Given the description of an element on the screen output the (x, y) to click on. 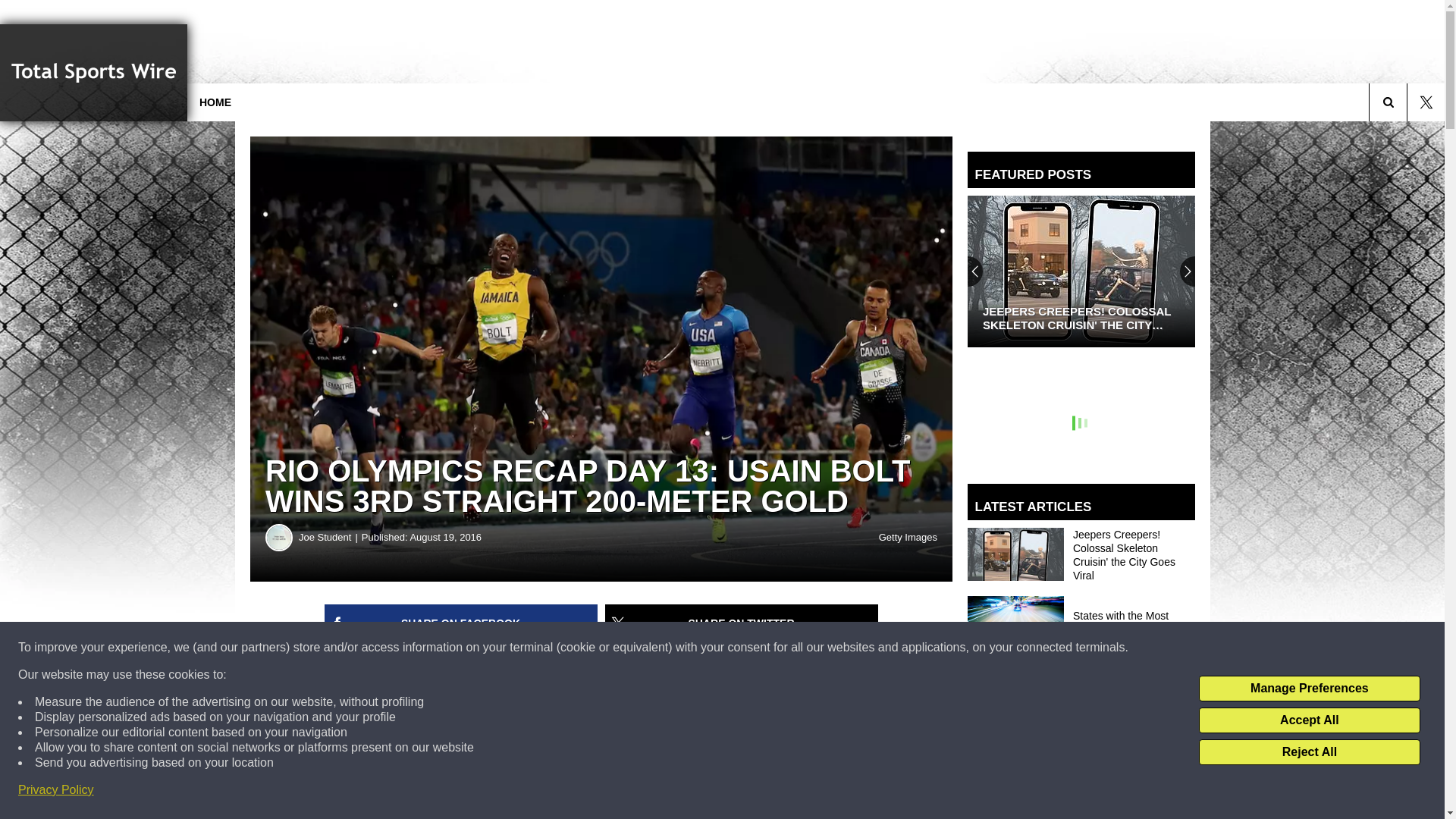
Joe Student (329, 537)
Privacy Policy (55, 789)
HOME (215, 102)
Joe Student (278, 537)
Reject All (1309, 751)
Share on Twitter (741, 623)
Manage Preferences (1309, 688)
SHARE ON TWITTER (741, 623)
Accept All (1309, 720)
Share on Facebook (460, 623)
SHARE ON FACEBOOK (460, 623)
